Given the description of an element on the screen output the (x, y) to click on. 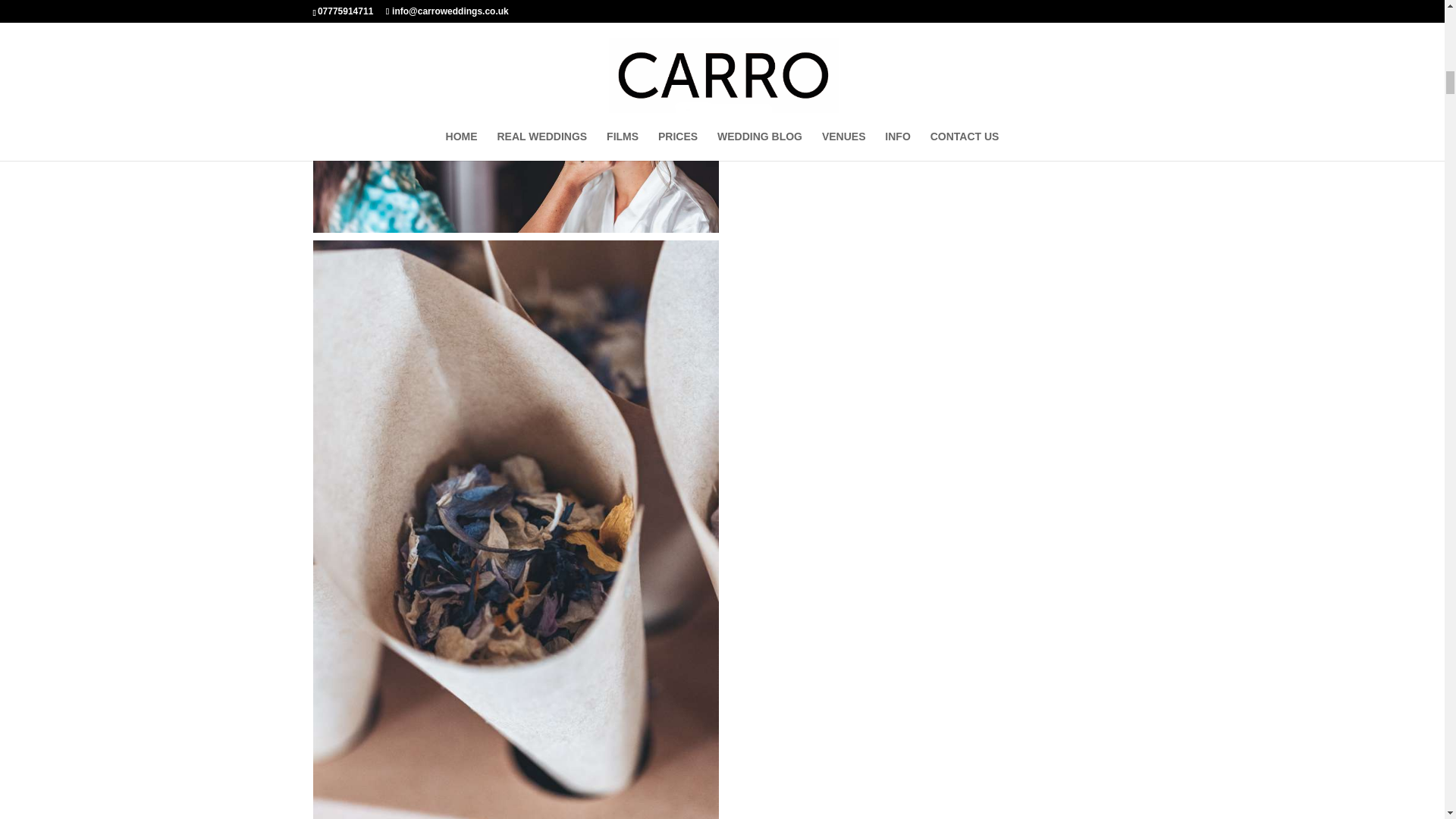
080623 Ayya and Elen Raven Hall Photos Socials Web-7 (515, 116)
